Given the description of an element on the screen output the (x, y) to click on. 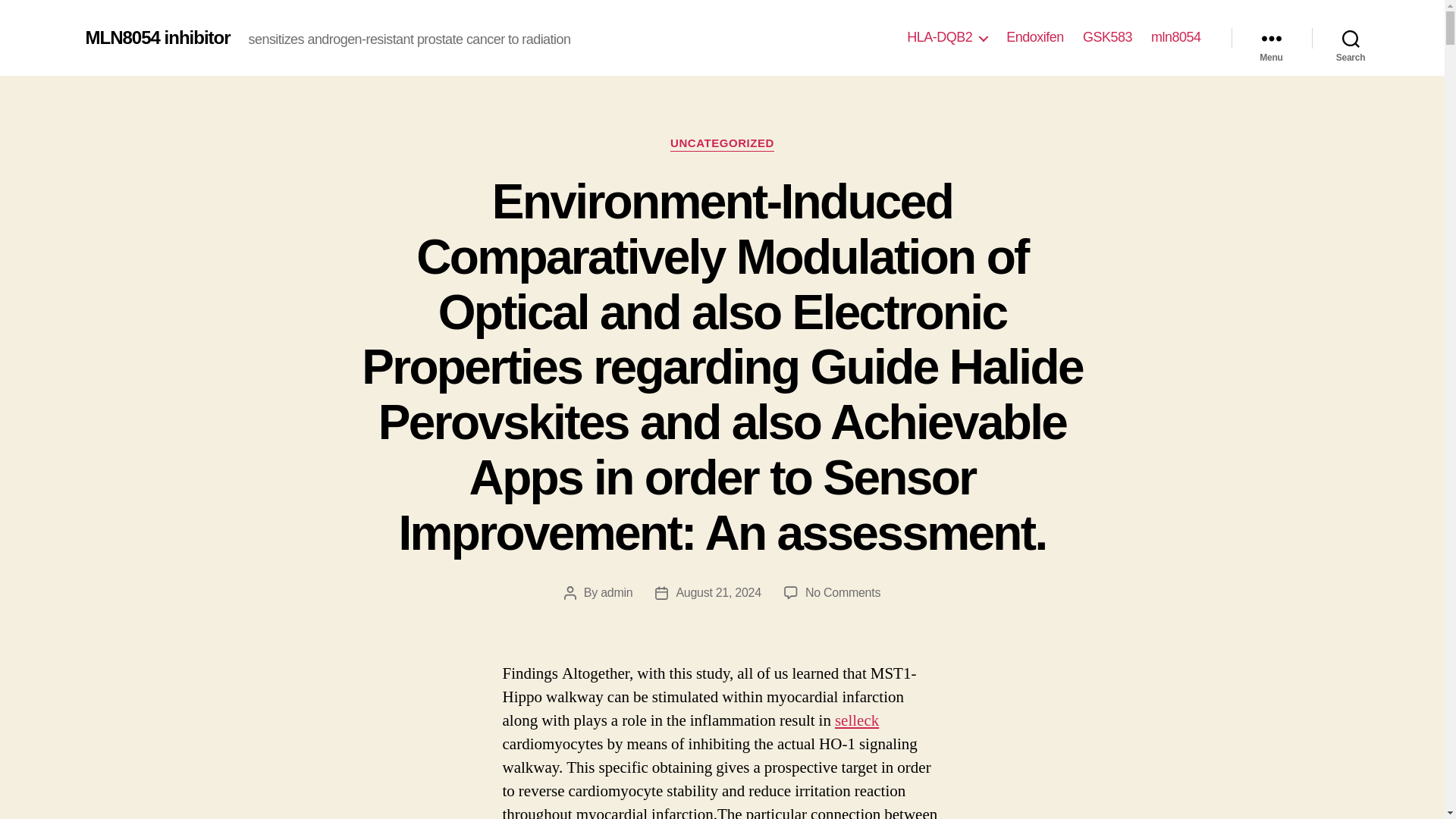
MLN8054 inhibitor (157, 37)
Endoxifen (1035, 37)
HLA-DQB2 (947, 37)
mln8054 (1176, 37)
Menu (1271, 37)
GSK583 (1107, 37)
Search (1350, 37)
